Given the description of an element on the screen output the (x, y) to click on. 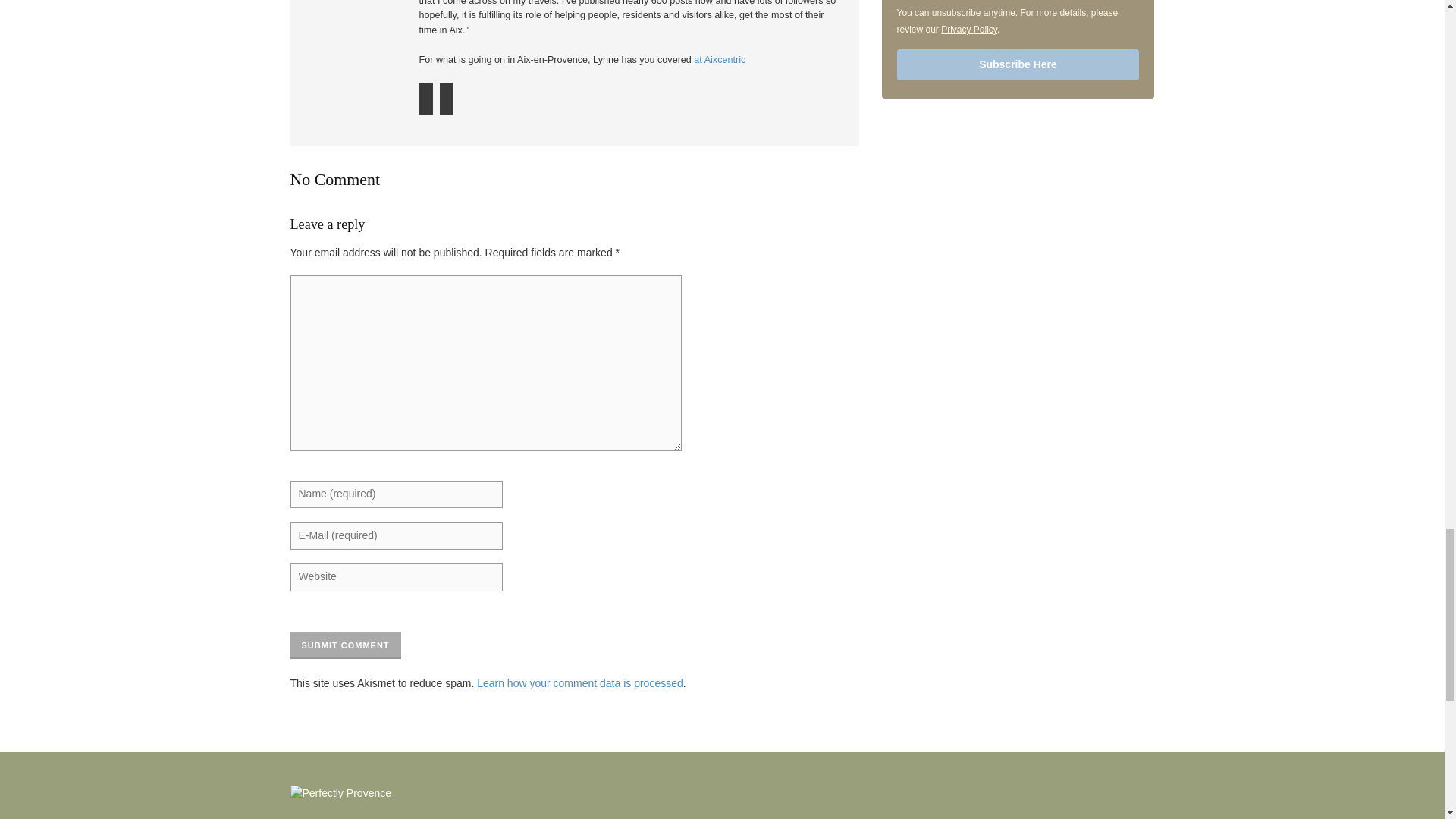
Submit comment (344, 645)
